Given the description of an element on the screen output the (x, y) to click on. 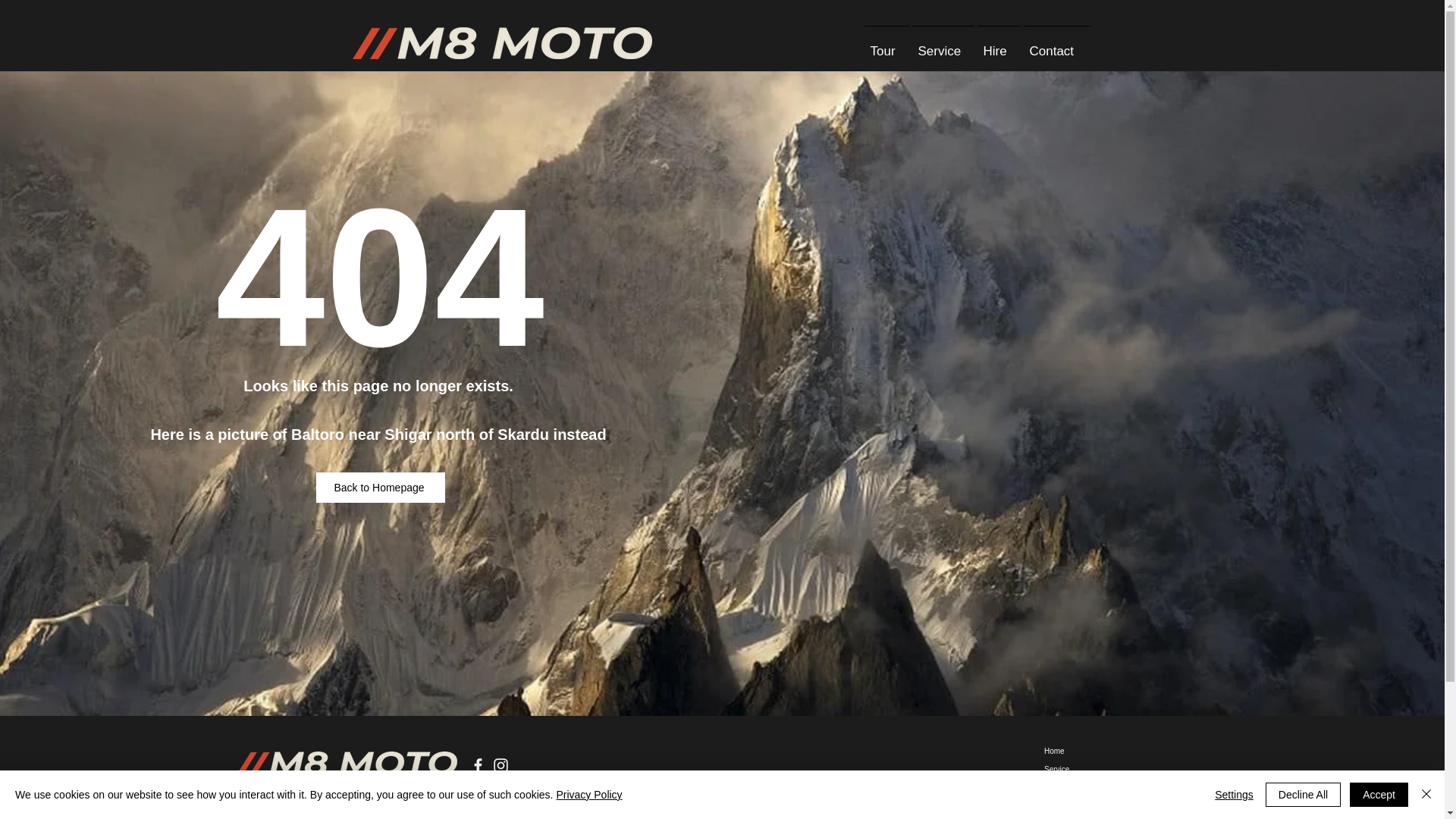
WhatsApp Button 1.jpeg (1218, 797)
Home (1068, 751)
Back to Homepage (380, 487)
Blog (1068, 816)
Tour (887, 44)
Service (1068, 769)
M8 Logo Name Only.png (501, 42)
Hire (998, 44)
M8 Logo Name Only.png (346, 762)
Accept (1378, 794)
Contact (1057, 44)
Hire (1068, 805)
Decline All (1302, 794)
Tour (1068, 787)
Privacy Policy (588, 794)
